Given the description of an element on the screen output the (x, y) to click on. 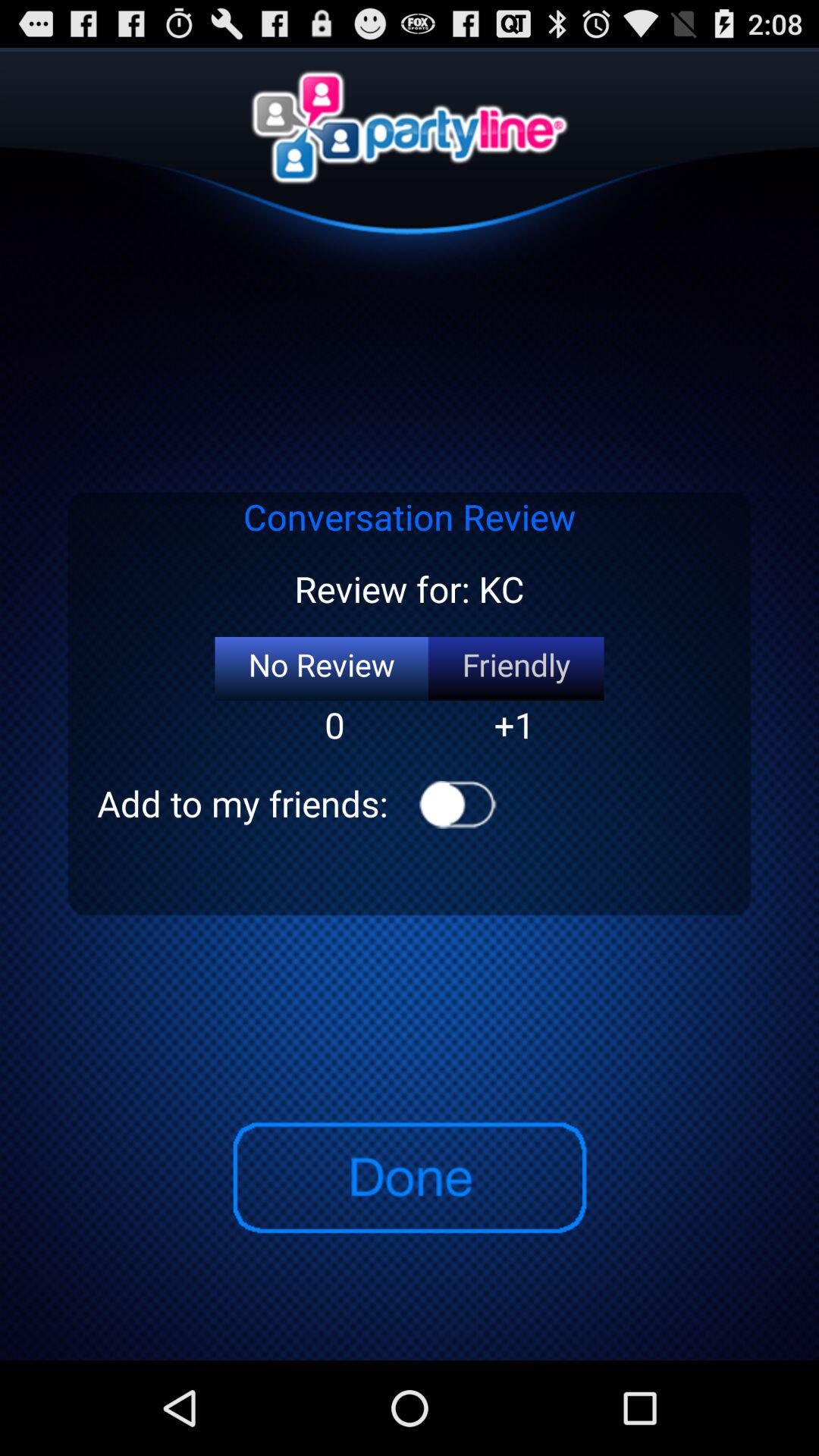
turn off the app above +1 item (516, 668)
